Given the description of an element on the screen output the (x, y) to click on. 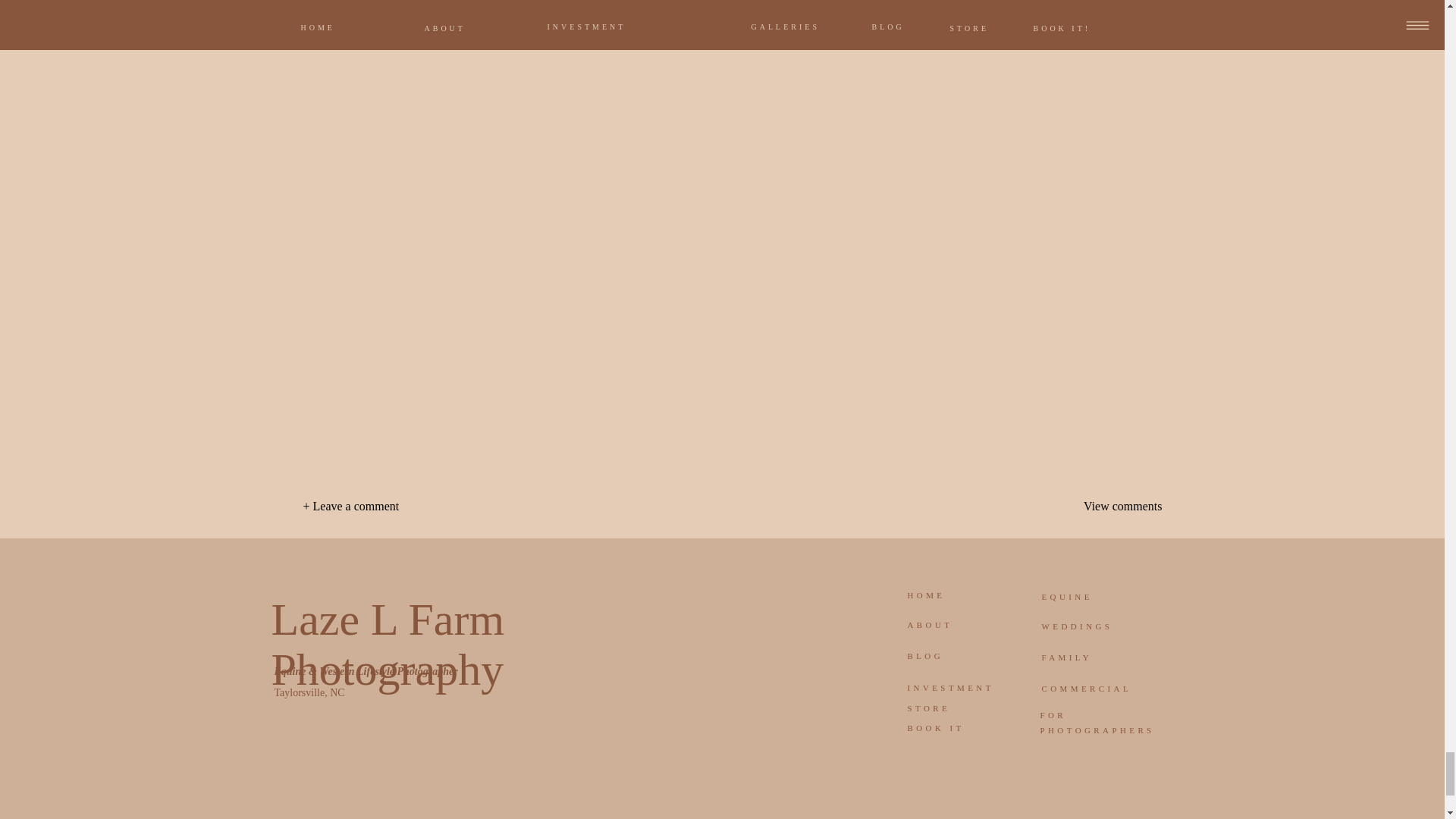
View comments (1089, 504)
HOME (958, 599)
STORE (954, 712)
ABOUT (957, 629)
BLOG (954, 660)
